Given the description of an element on the screen output the (x, y) to click on. 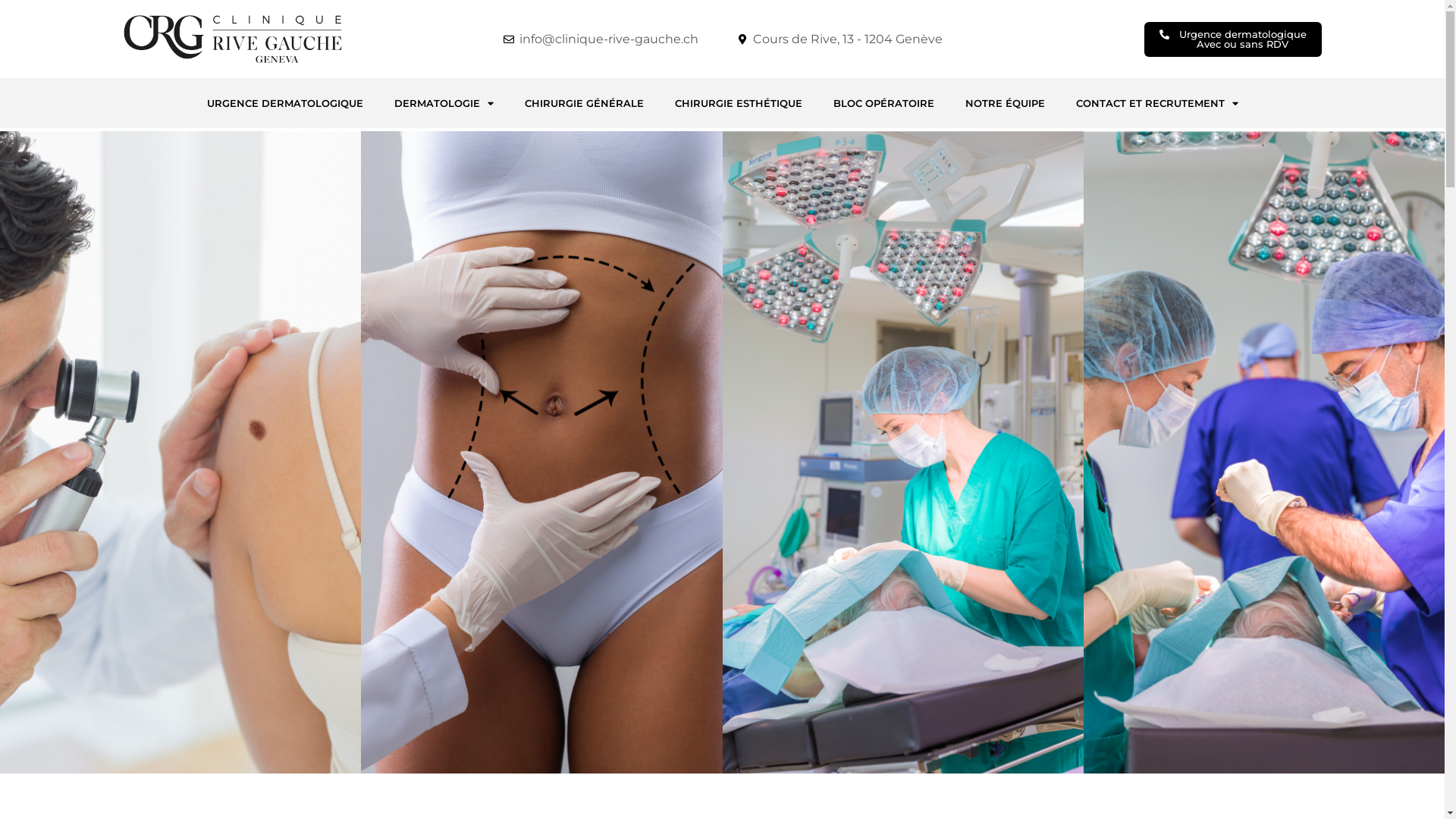
info@clinique-rive-gauche.ch Element type: text (600, 39)
Urgence dermatologique
Avec ou sans RDV Element type: text (1232, 38)
URGENCE DERMATOLOGIQUE Element type: text (284, 102)
CONTACT ET RECRUTEMENT Element type: text (1156, 102)
DERMATOLOGIE Element type: text (443, 102)
